Given the description of an element on the screen output the (x, y) to click on. 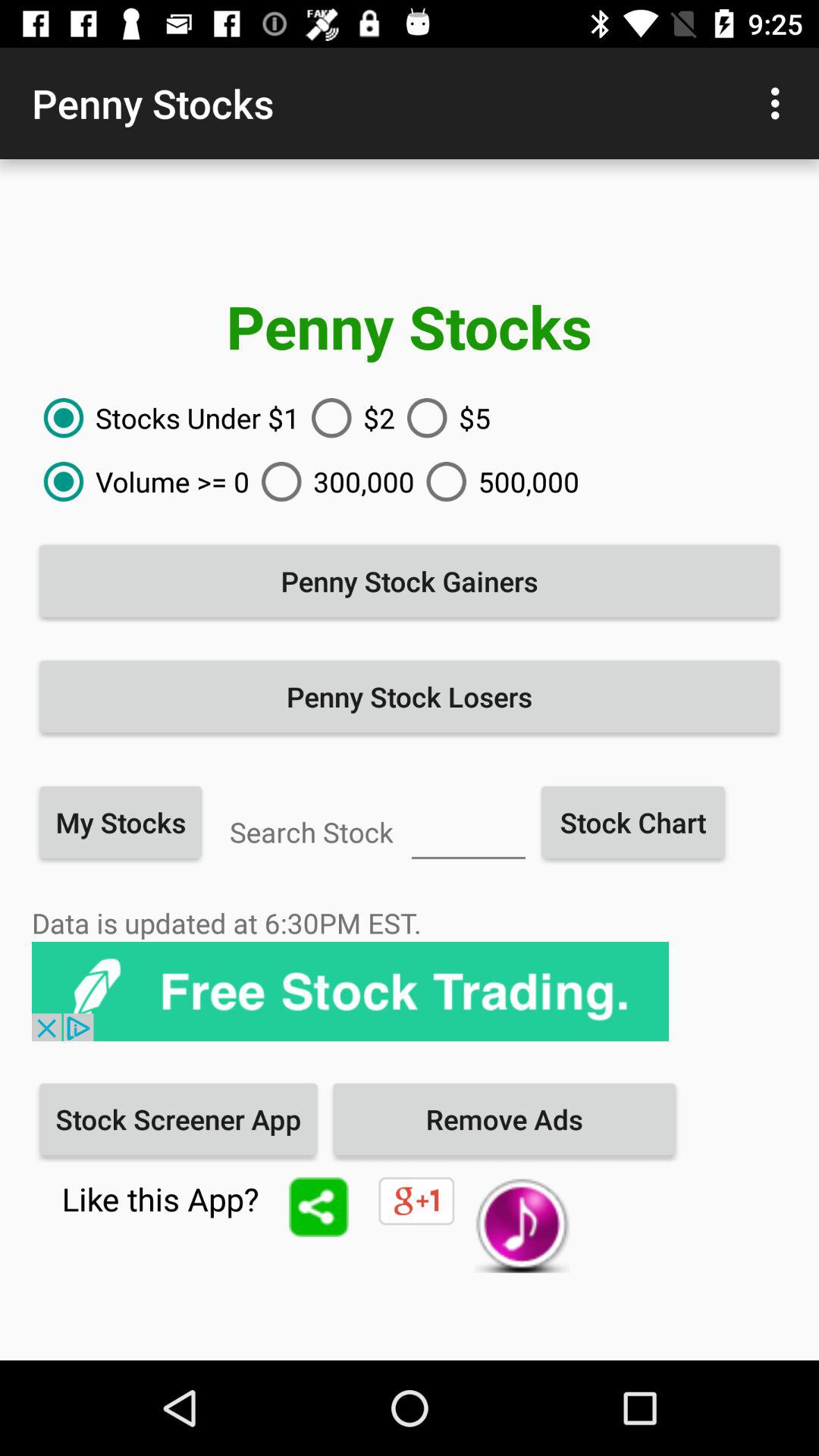
tap the icon below penny stocks (442, 417)
